Given the description of an element on the screen output the (x, y) to click on. 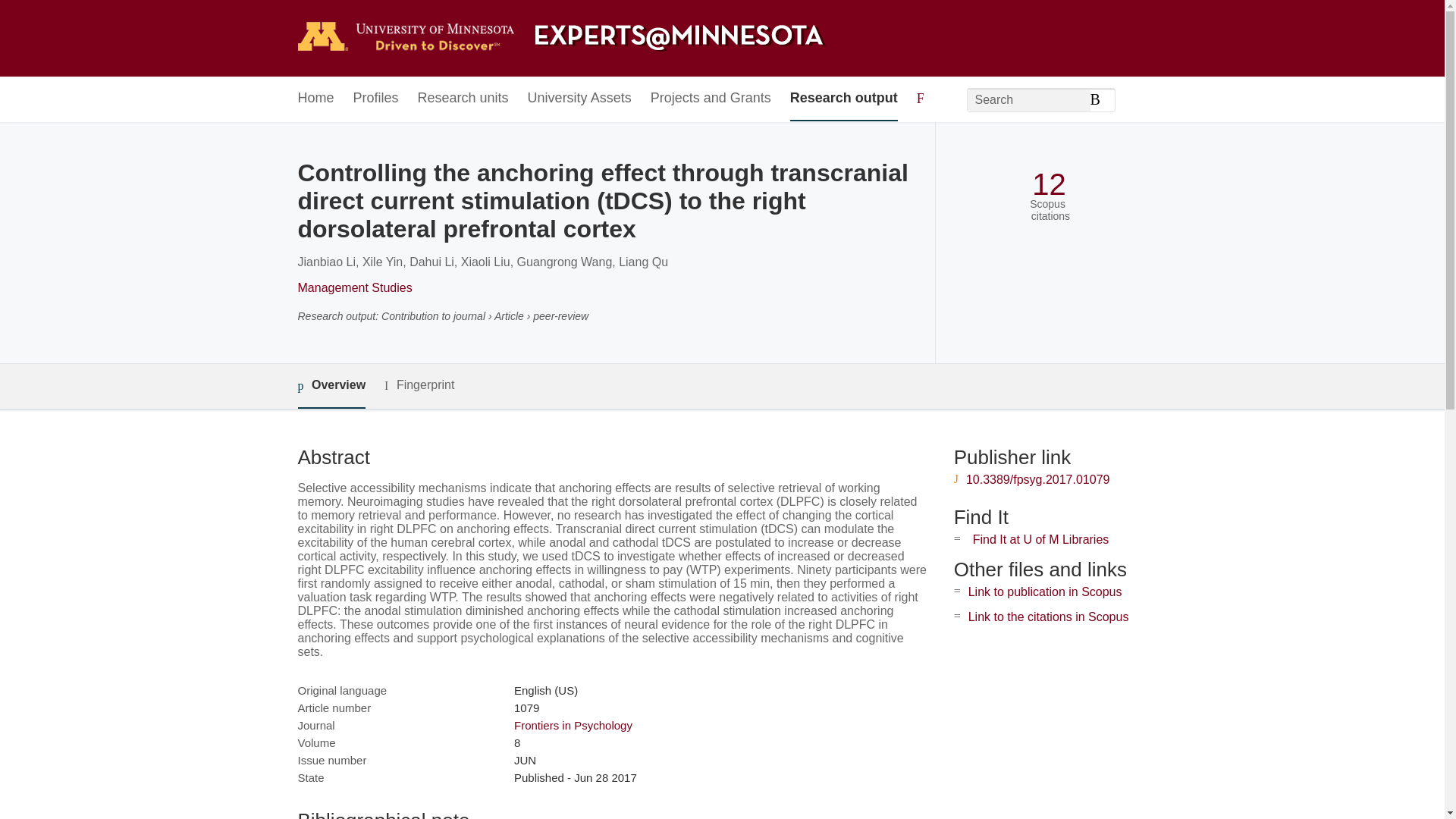
Link to the citations in Scopus (1048, 616)
Frontiers in Psychology (572, 725)
Research units (462, 98)
12 (1048, 184)
Research output (844, 98)
Fingerprint (419, 385)
University Assets (579, 98)
Projects and Grants (710, 98)
Overview (331, 385)
Link to publication in Scopus (1045, 591)
Management Studies (354, 287)
Profiles (375, 98)
Find It at U of M Libraries (1040, 539)
